Given the description of an element on the screen output the (x, y) to click on. 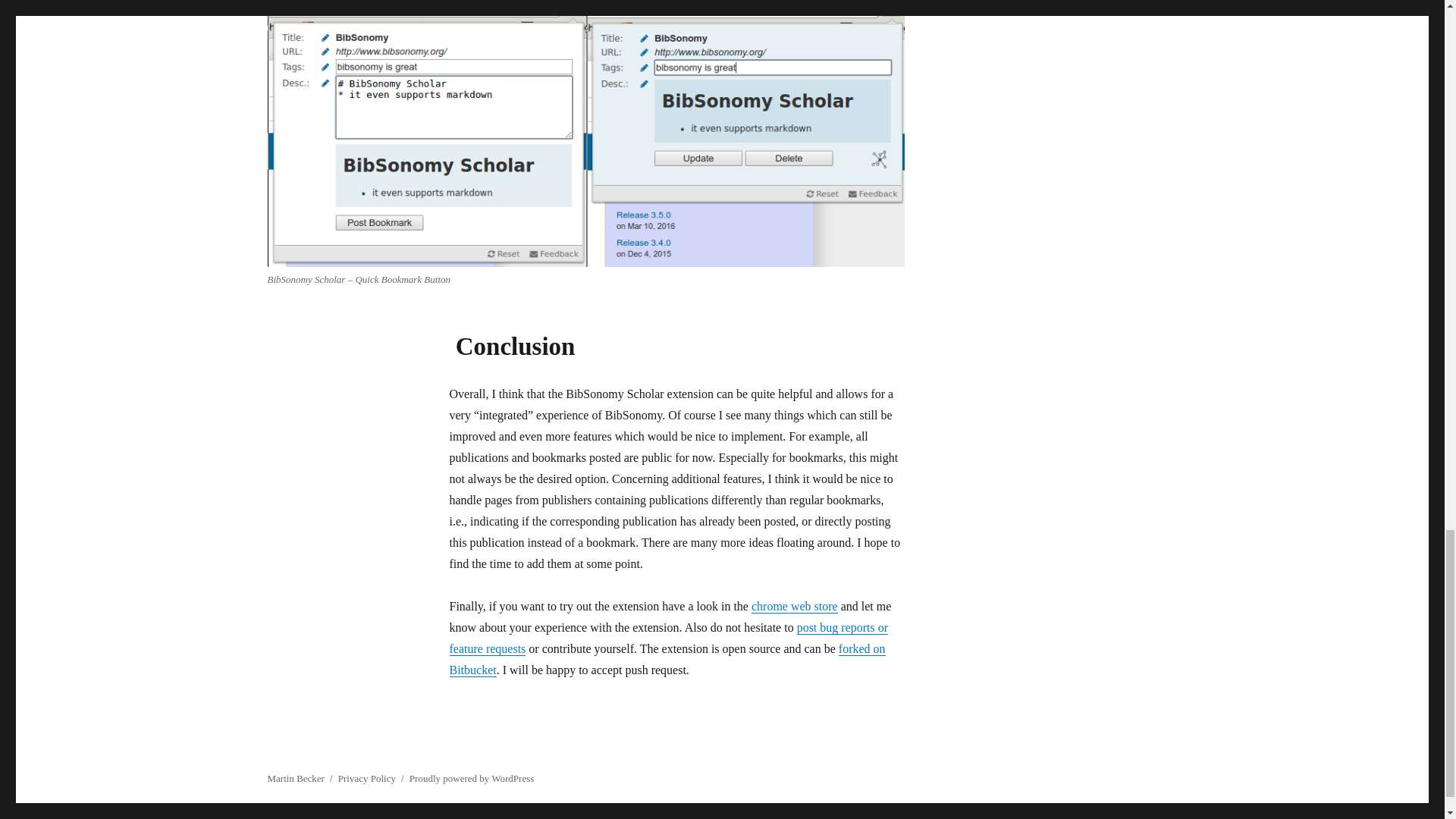
chrome web store (794, 605)
post bug reports or feature requests (668, 637)
forked on Bitbucket (666, 659)
